Given the description of an element on the screen output the (x, y) to click on. 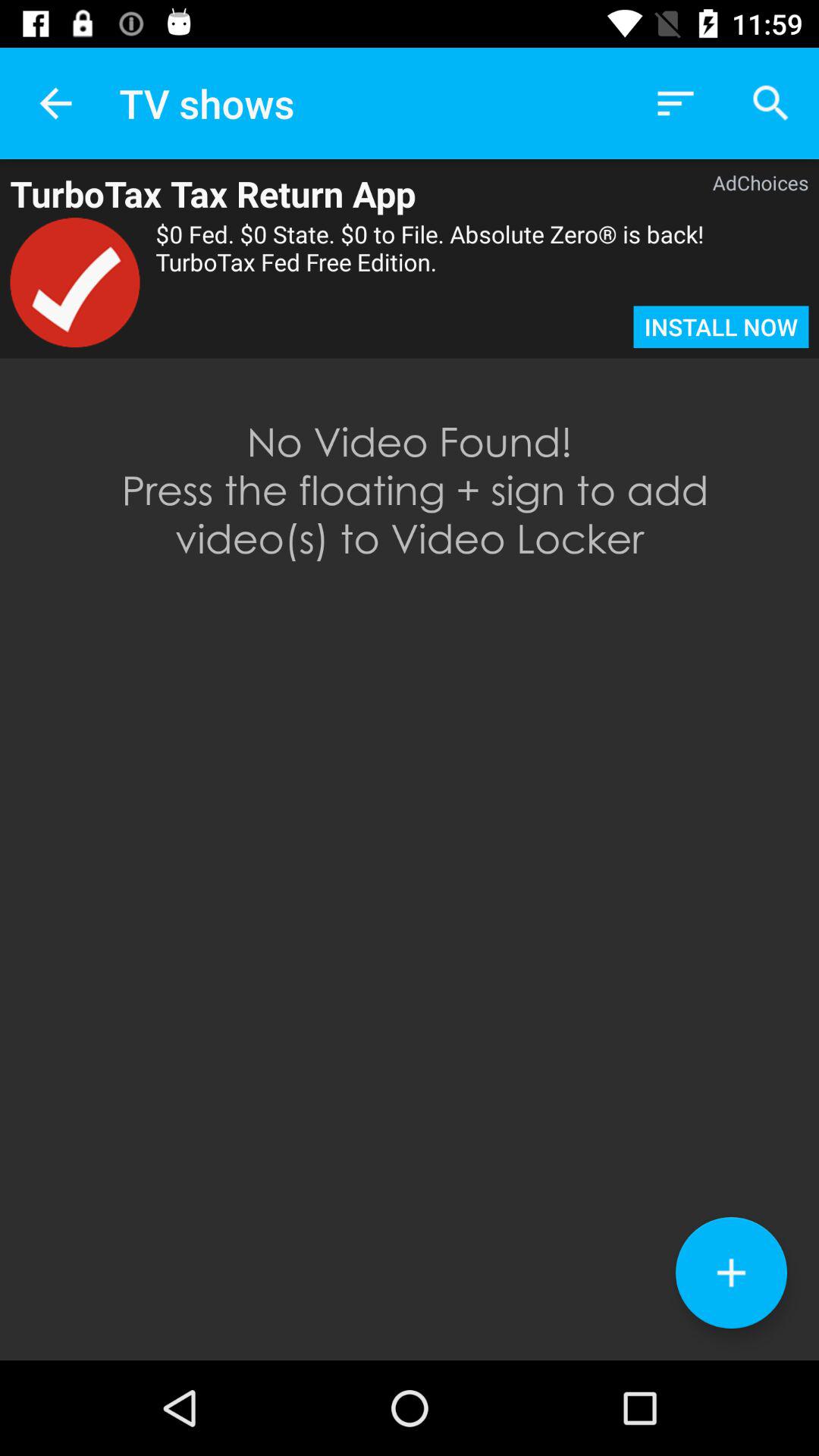
flip until the turbotax tax return item (337, 193)
